Given the description of an element on the screen output the (x, y) to click on. 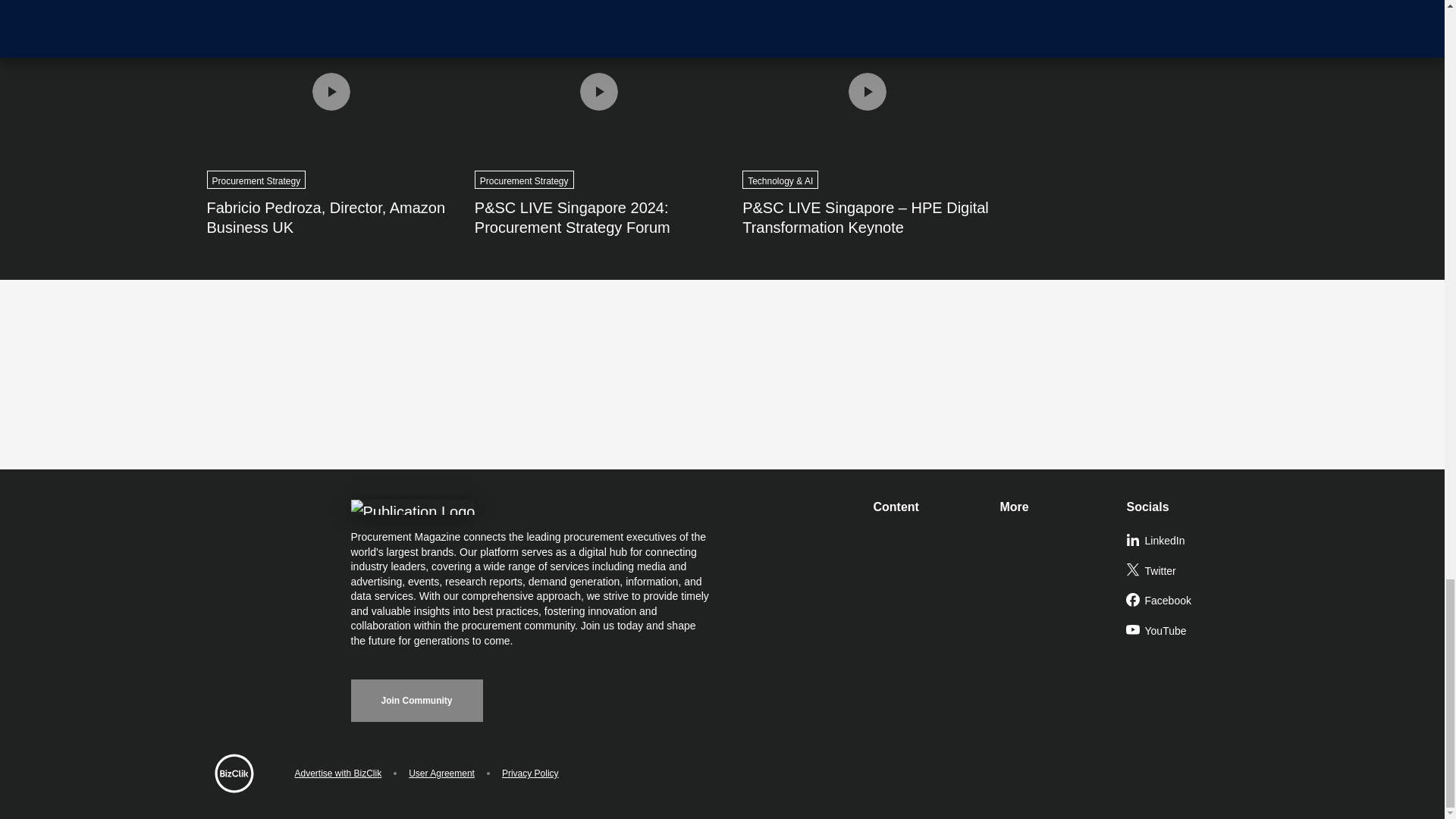
Facebook (1182, 601)
LinkedIn (1182, 541)
Join Community (415, 700)
Twitter (1182, 571)
